Given the description of an element on the screen output the (x, y) to click on. 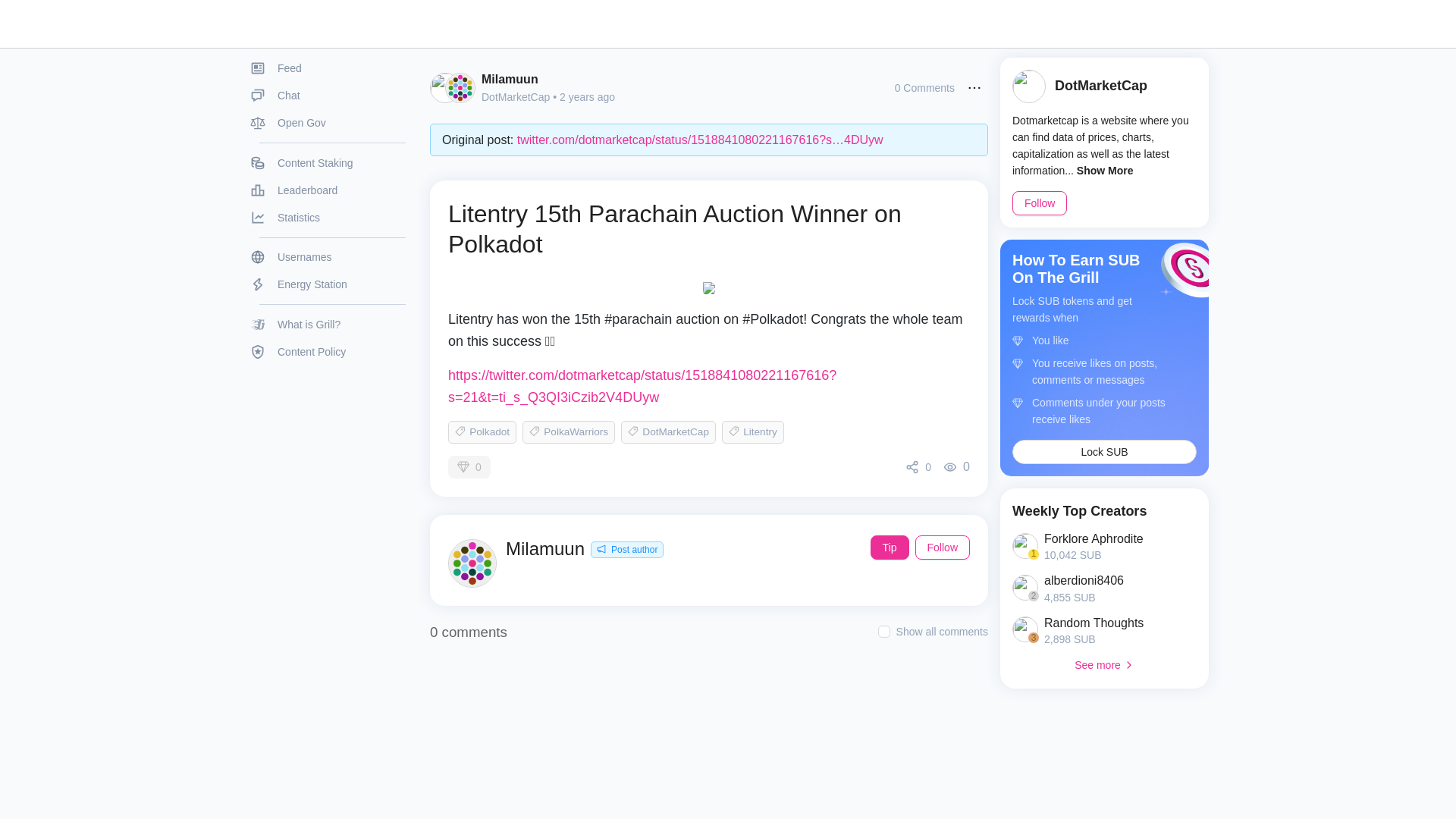
Litentry (752, 432)
0 (918, 466)
Usernames (328, 257)
0 (469, 466)
Energy Station (328, 284)
PolkaWarriors (568, 432)
DotMarketCap (515, 96)
Feed (328, 67)
Share (918, 466)
Content Staking (328, 162)
